Given the description of an element on the screen output the (x, y) to click on. 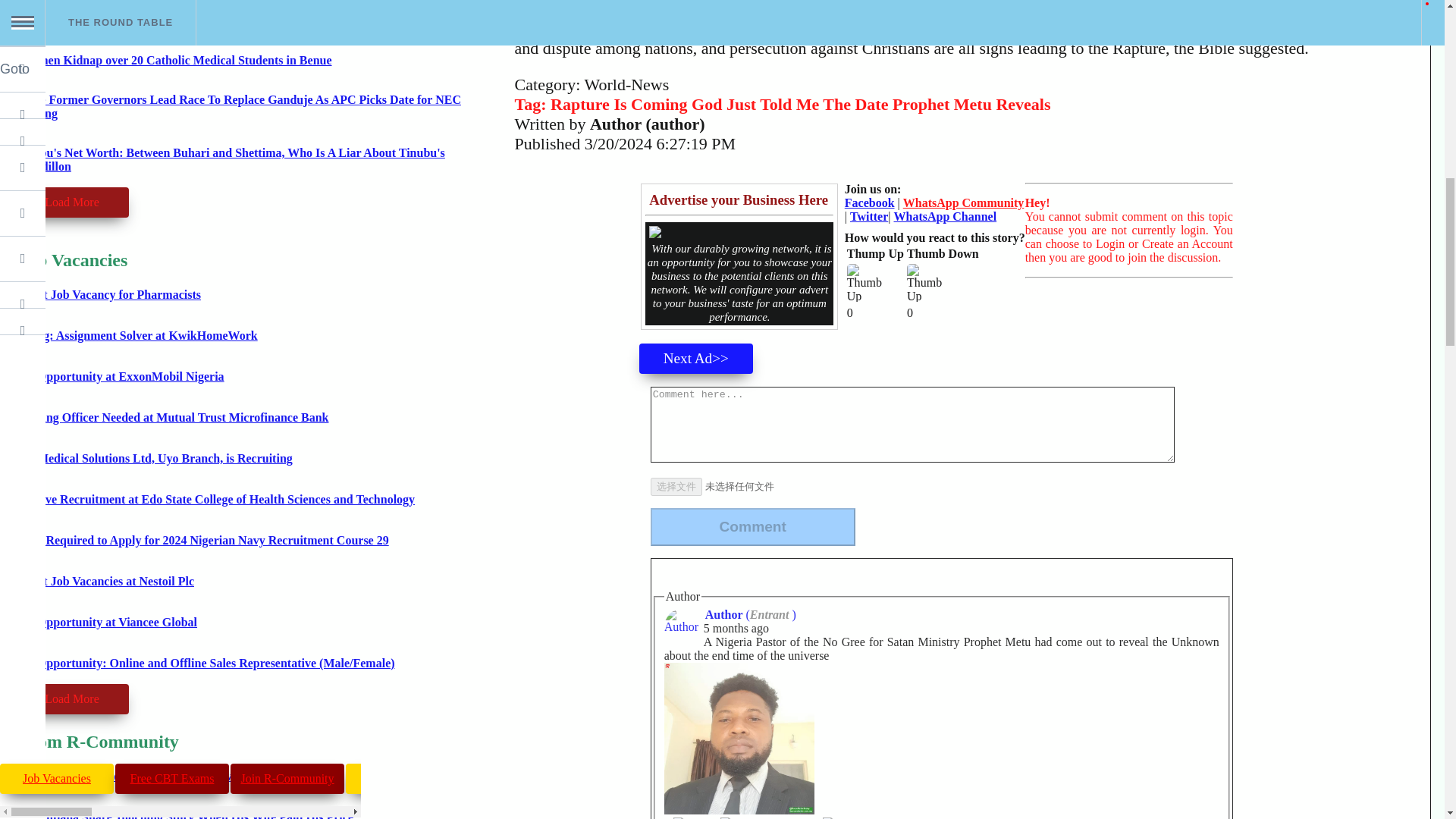
Gunmen Kidnap over 20 Catholic Medical Students in Benue (172, 60)
Comment (753, 526)
Angry Police Officers Protest Unpaid Salaries For 11 Months (172, 20)
